Given the description of an element on the screen output the (x, y) to click on. 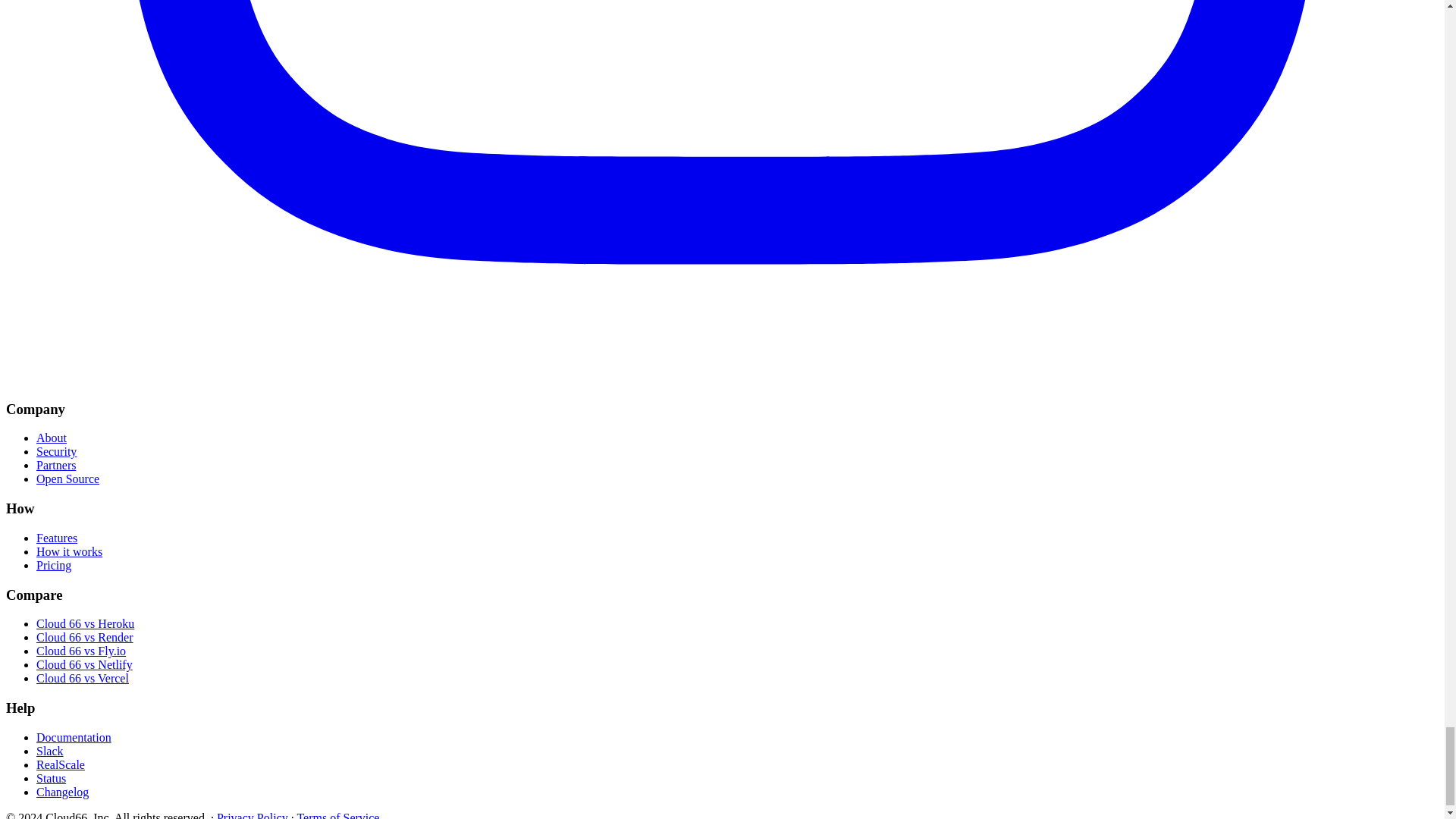
Slack (50, 750)
Changelog (62, 791)
Documentation (74, 737)
Open Source (67, 478)
Pricing (53, 564)
Status (50, 778)
Partners (55, 464)
About (51, 437)
Cloud 66 vs Vercel (82, 677)
Cloud 66 vs Heroku (84, 623)
